Given the description of an element on the screen output the (x, y) to click on. 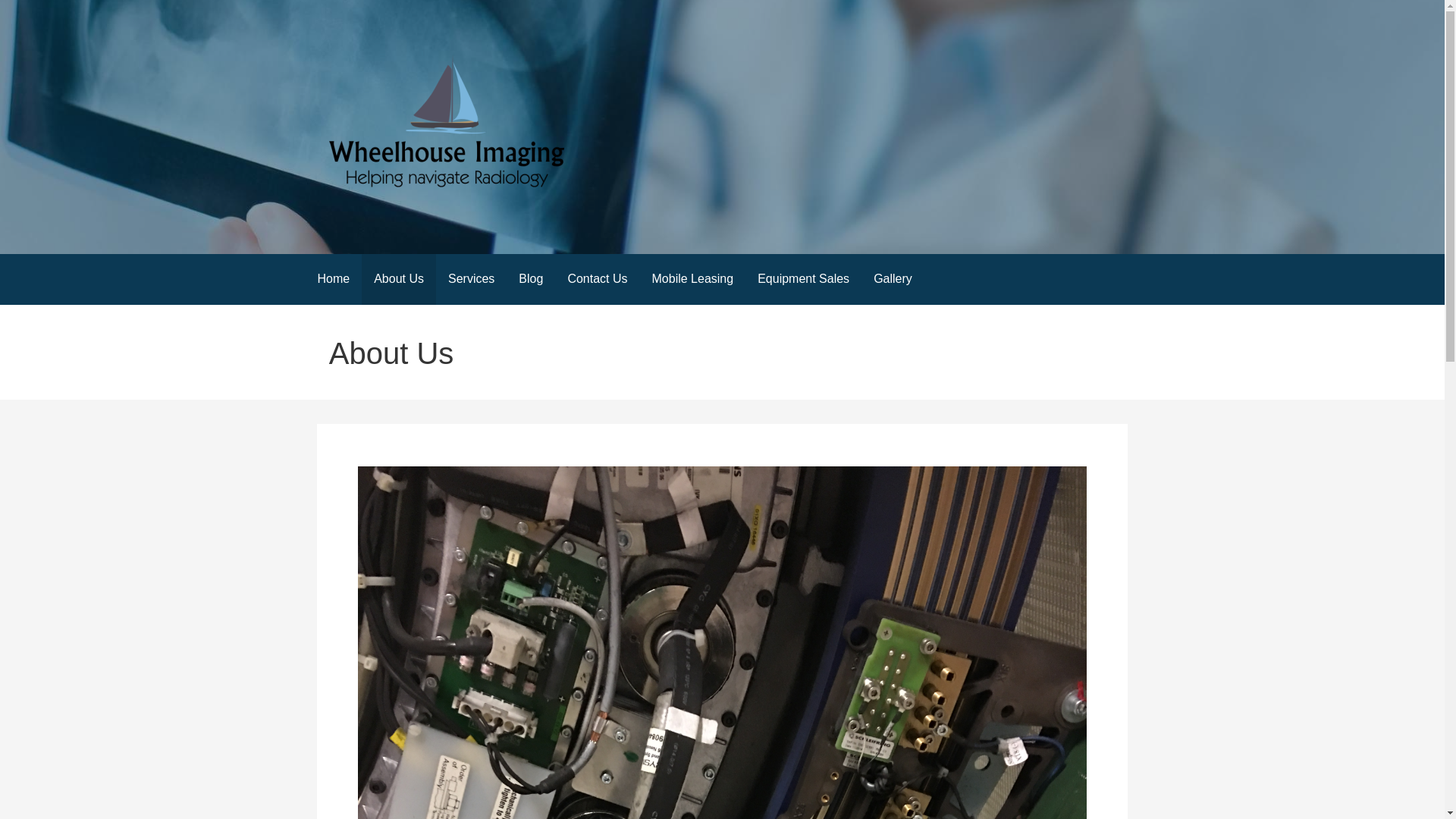
Contact Us (596, 278)
Home (332, 278)
Mobile Leasing (692, 278)
Services (470, 278)
Gallery (892, 278)
Equipment Sales (803, 278)
About Us (398, 278)
Blog (530, 278)
Wheelhouse Imaging (444, 222)
